Given the description of an element on the screen output the (x, y) to click on. 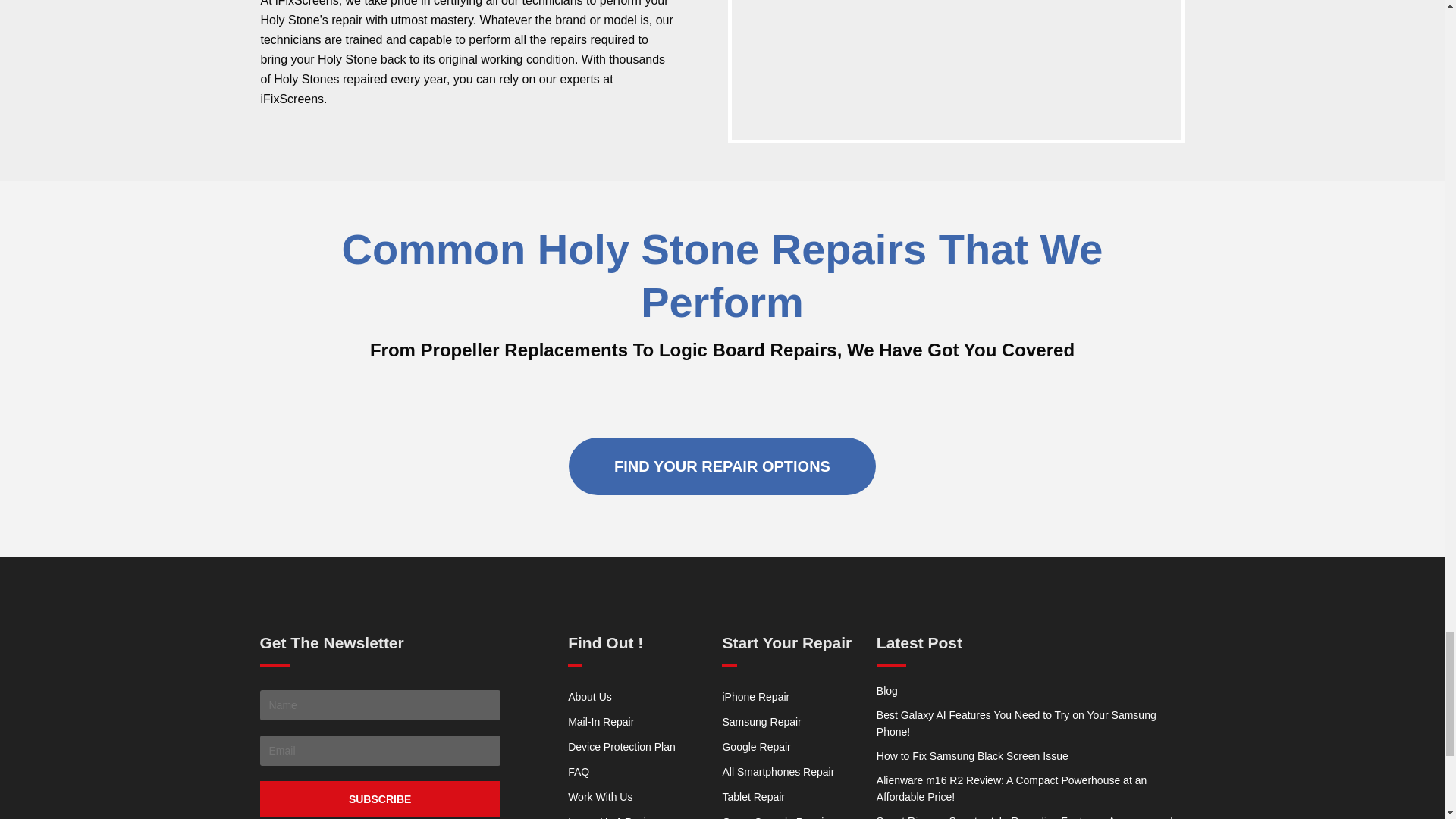
Expert Technicians (956, 69)
